Given the description of an element on the screen output the (x, y) to click on. 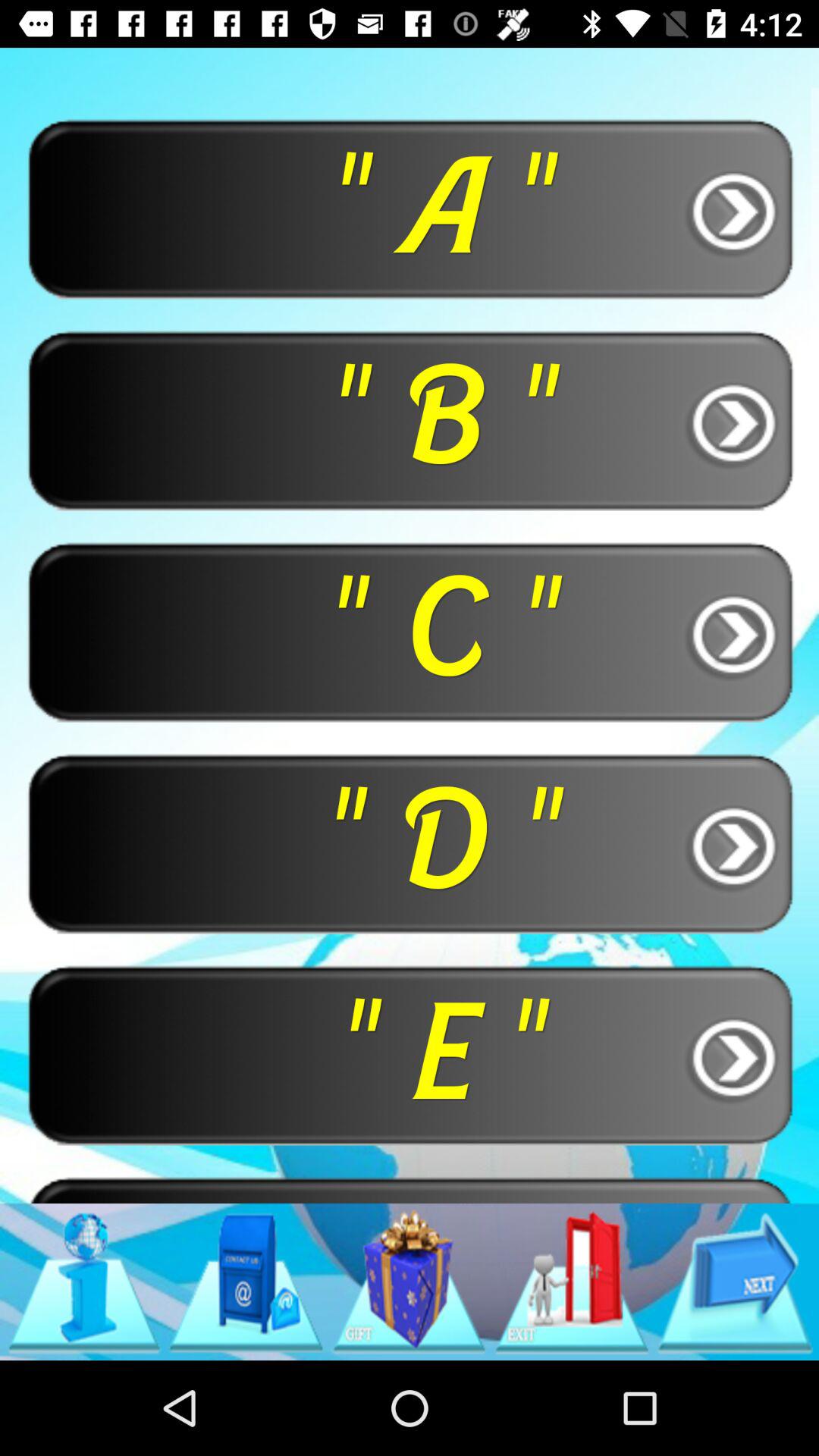
email (245, 1281)
